Given the description of an element on the screen output the (x, y) to click on. 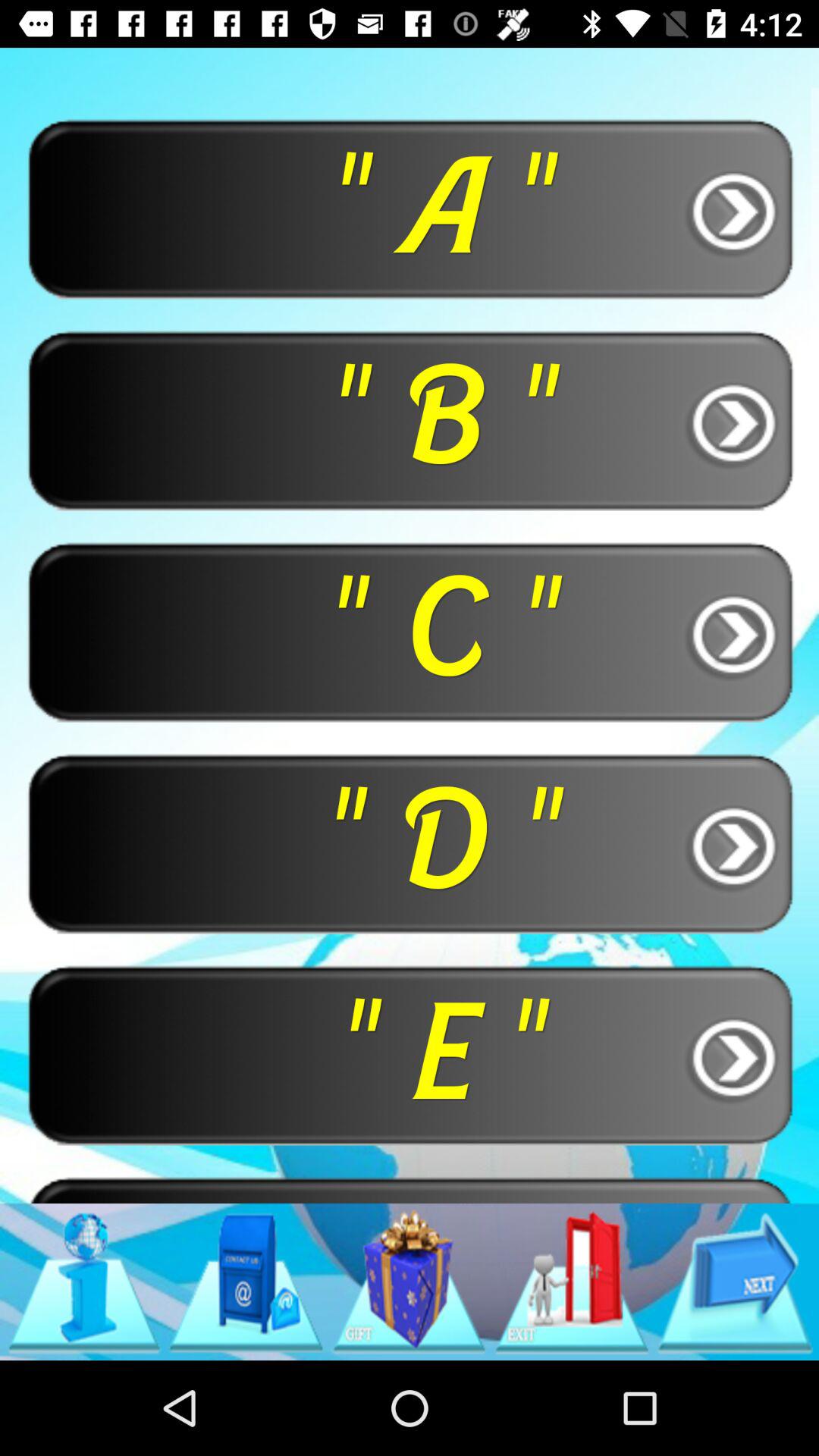
email (245, 1281)
